Given the description of an element on the screen output the (x, y) to click on. 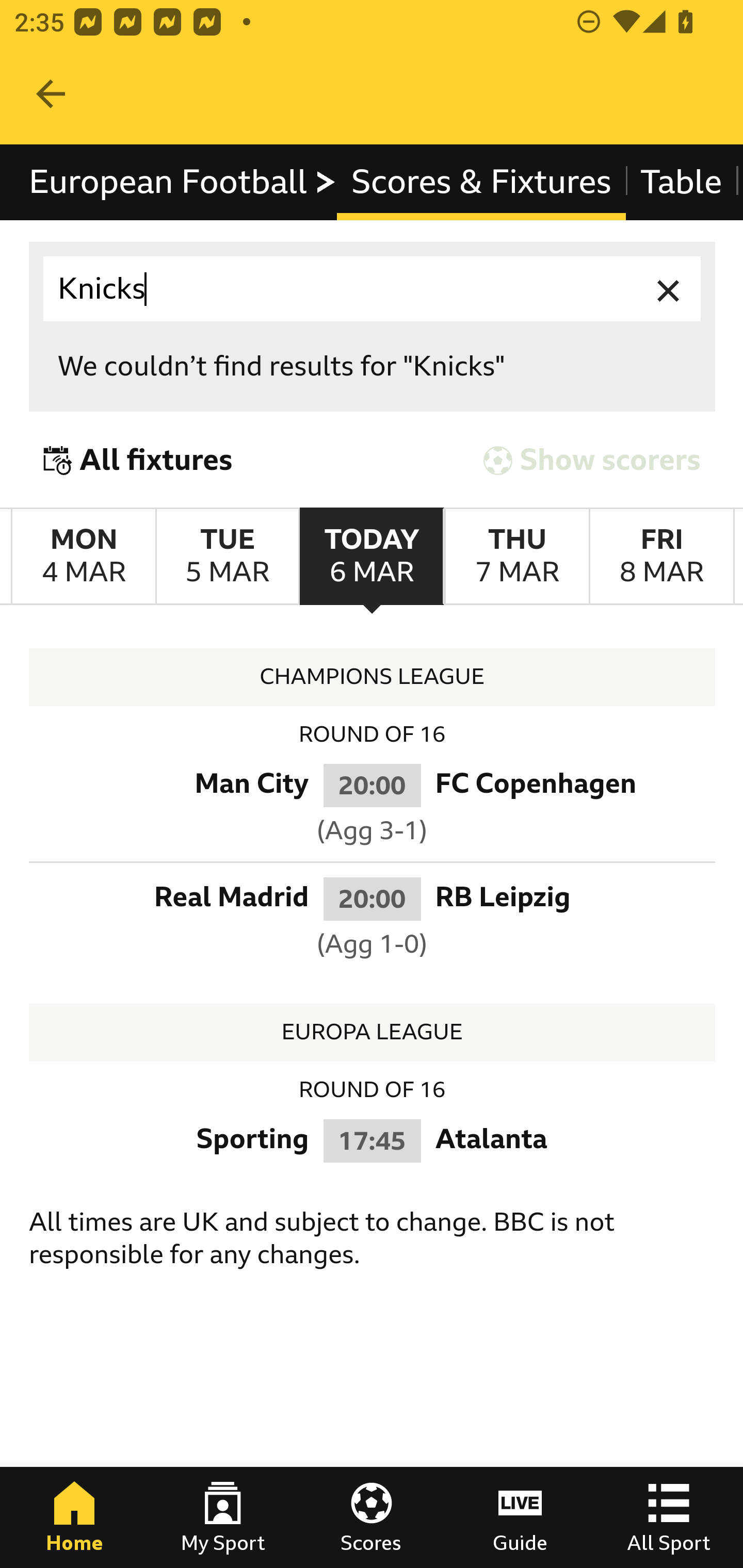
Navigate up (50, 93)
European Football  (182, 181)
Scores & Fixtures (480, 181)
Table (681, 181)
Knicks (372, 289)
Clear input (669, 289)
All fixtures (137, 459)
Show scorers (591, 459)
MondayMarch 4th Monday March 4th (83, 557)
TuesdayMarch 5th Tuesday March 5th (227, 557)
ThursdayMarch 7th Thursday March 7th (516, 557)
FridayMarch 8th Friday March 8th (661, 557)
My Sport (222, 1517)
Scores (371, 1517)
Guide (519, 1517)
All Sport (668, 1517)
